Given the description of an element on the screen output the (x, y) to click on. 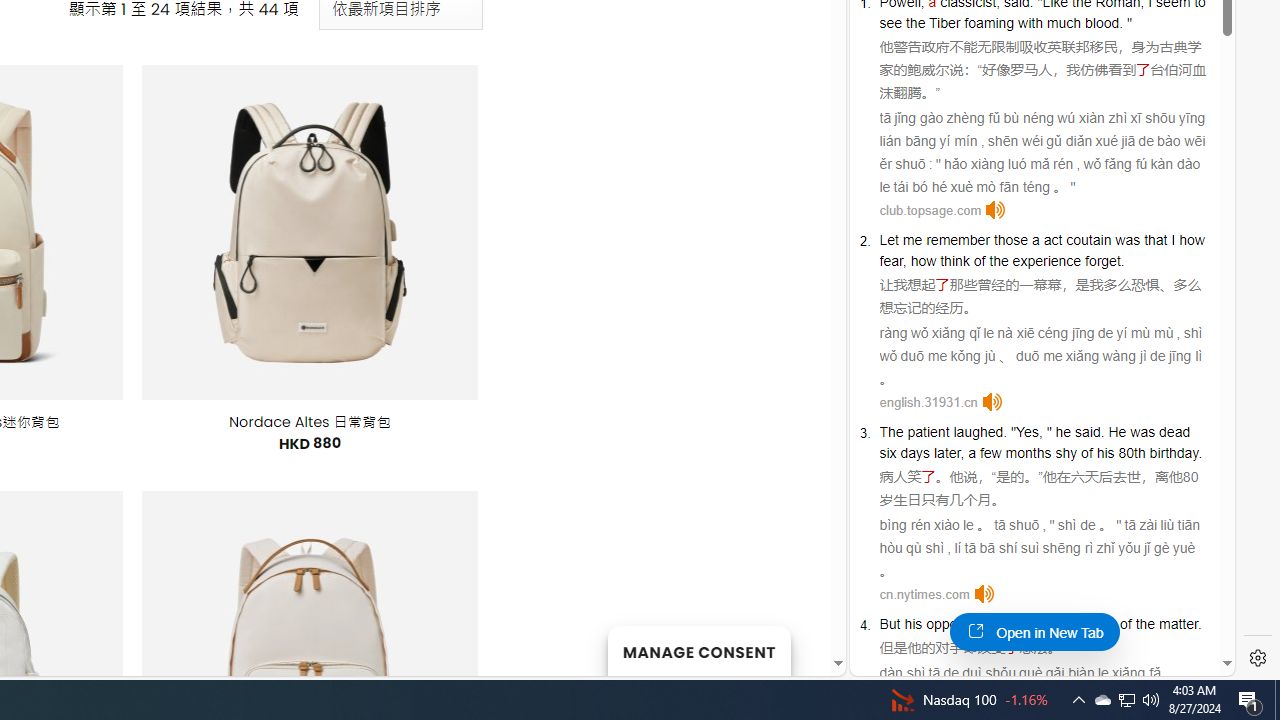
80 (1190, 476)
his (912, 624)
english.31931.cn (928, 402)
a (1035, 239)
see (890, 22)
those (1011, 239)
Tiber (945, 22)
laughed (978, 431)
blood (1102, 22)
